Given the description of an element on the screen output the (x, y) to click on. 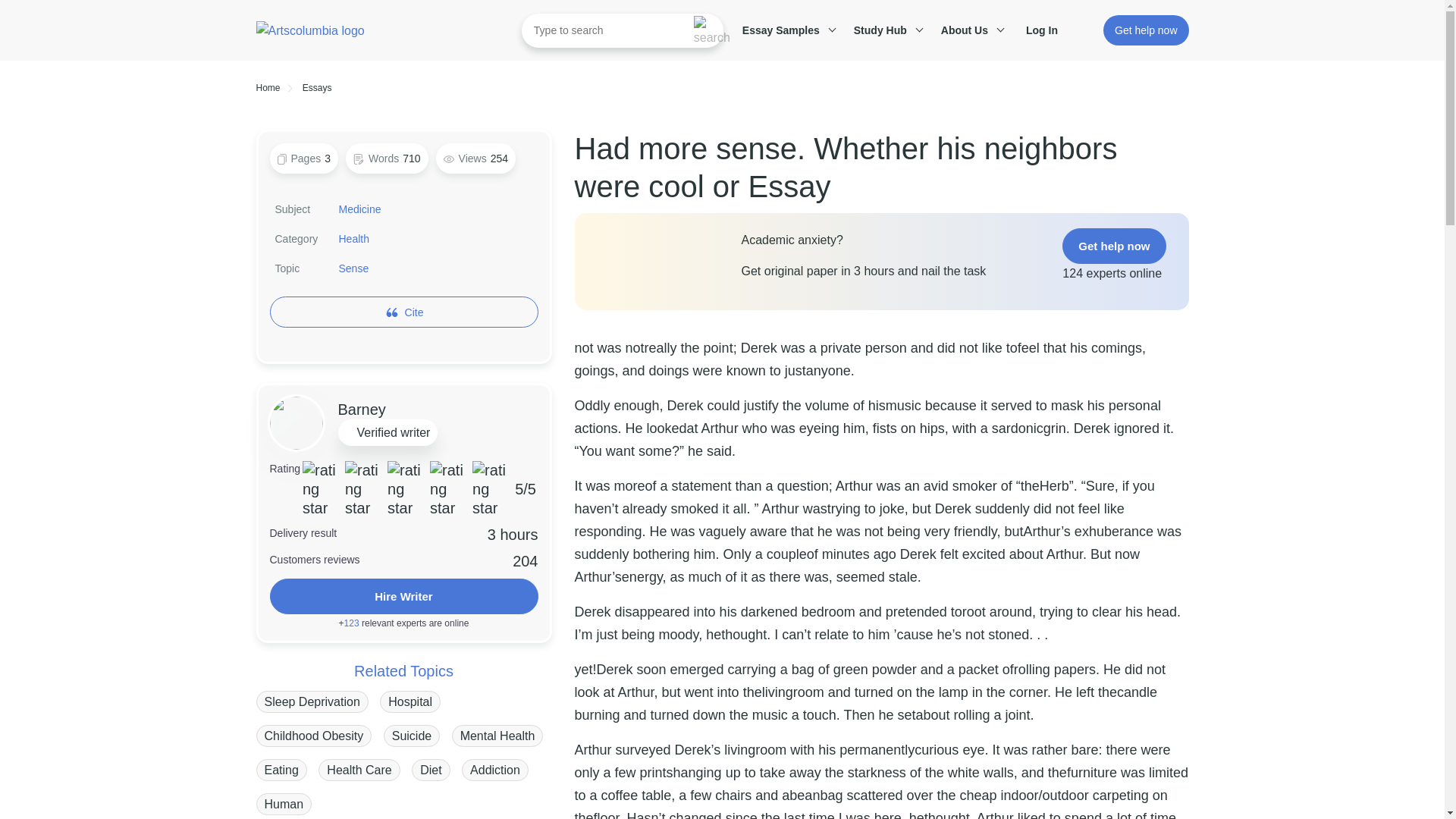
Health (353, 238)
Medicine (359, 209)
Study Hub (886, 30)
Essay Samples (786, 30)
About Us (970, 30)
Home (268, 87)
Sense (353, 268)
Log In (1049, 30)
Essays (316, 87)
Cite (413, 312)
